Given the description of an element on the screen output the (x, y) to click on. 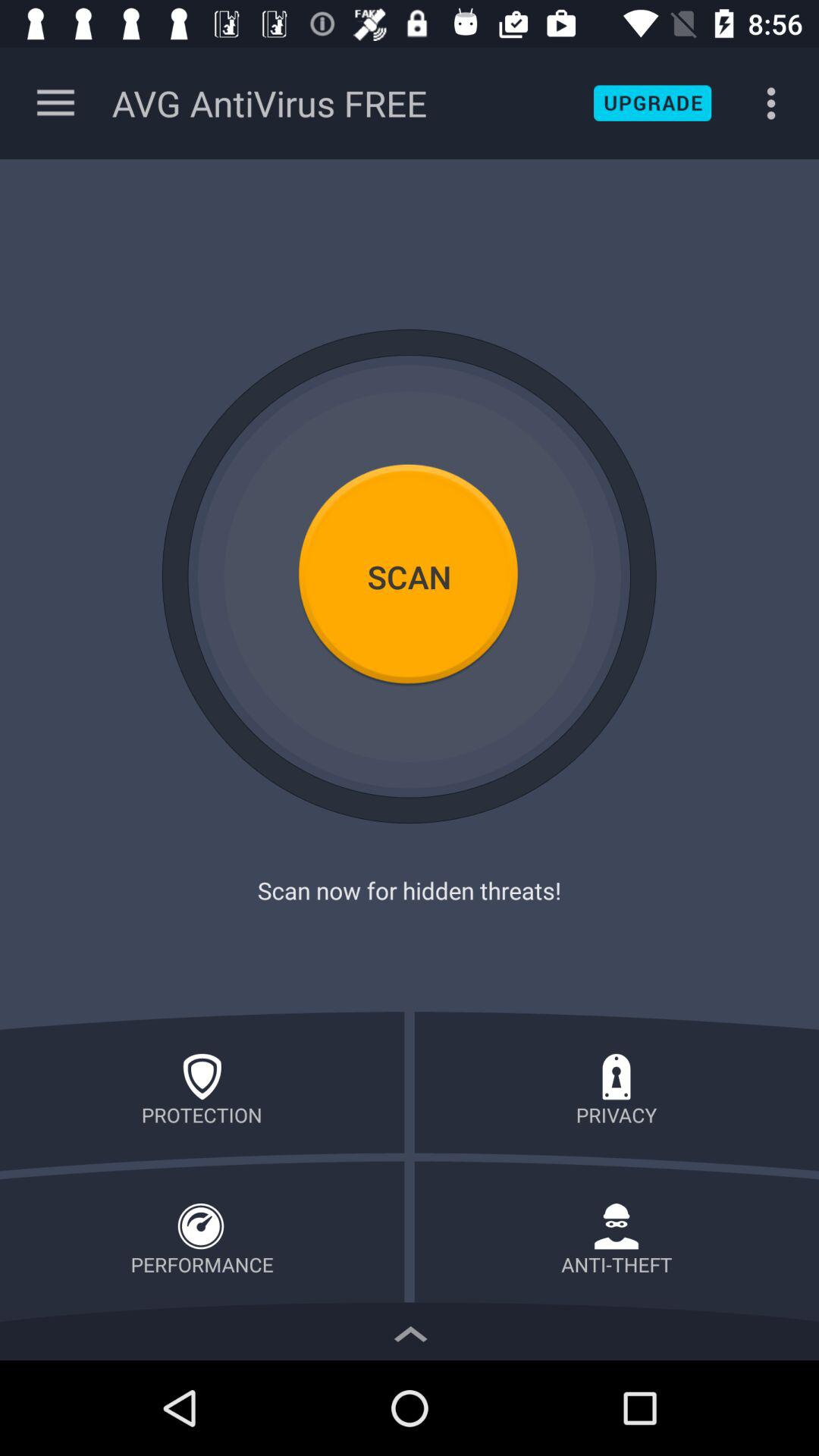
click to scan option (409, 576)
